Given the description of an element on the screen output the (x, y) to click on. 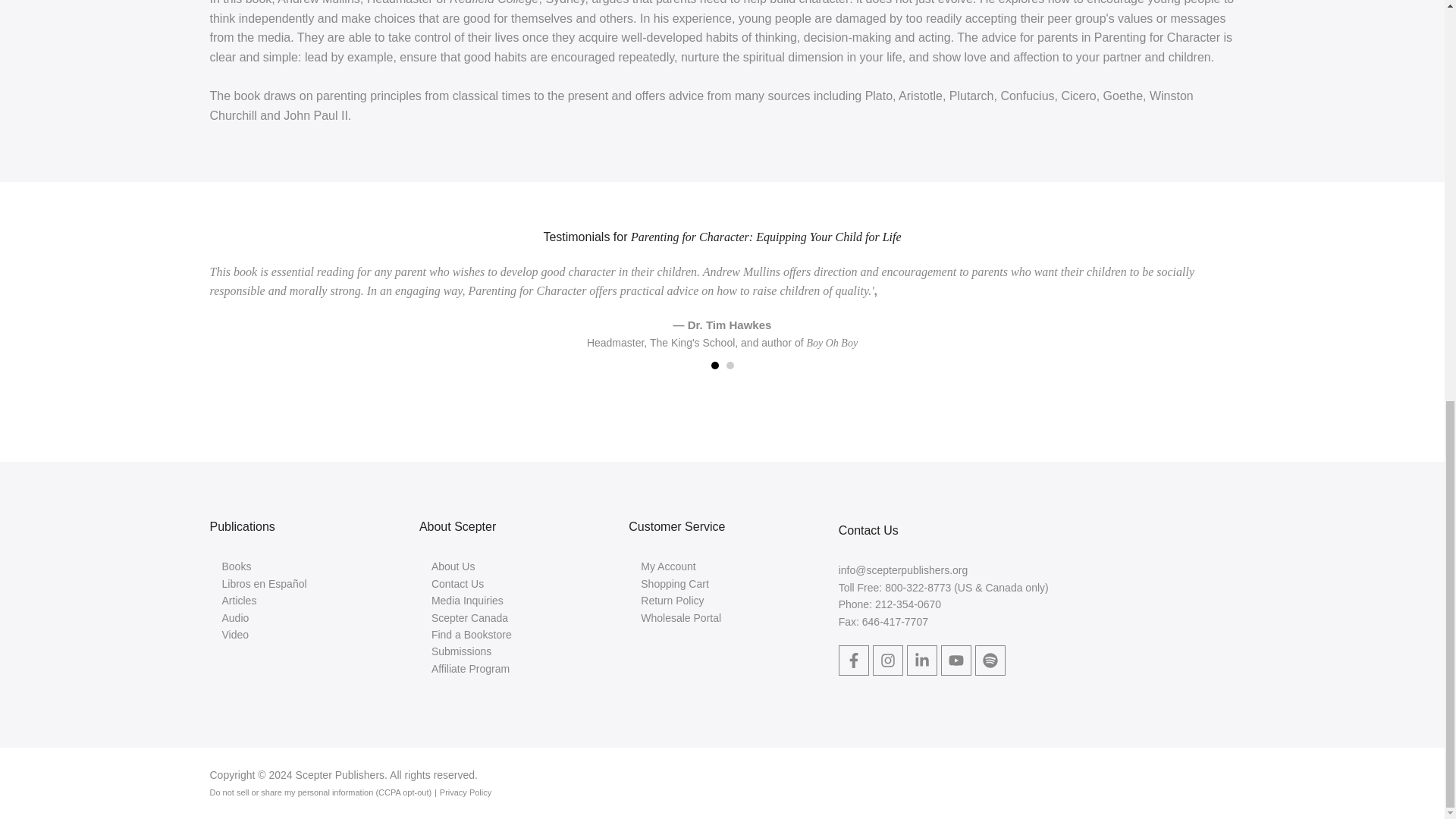
Follow on Spotify (990, 660)
Follow on YouTube (955, 660)
Follow on Linkedin (922, 660)
Follow on Facebook (853, 660)
Follow on Instagram (887, 660)
